Given the description of an element on the screen output the (x, y) to click on. 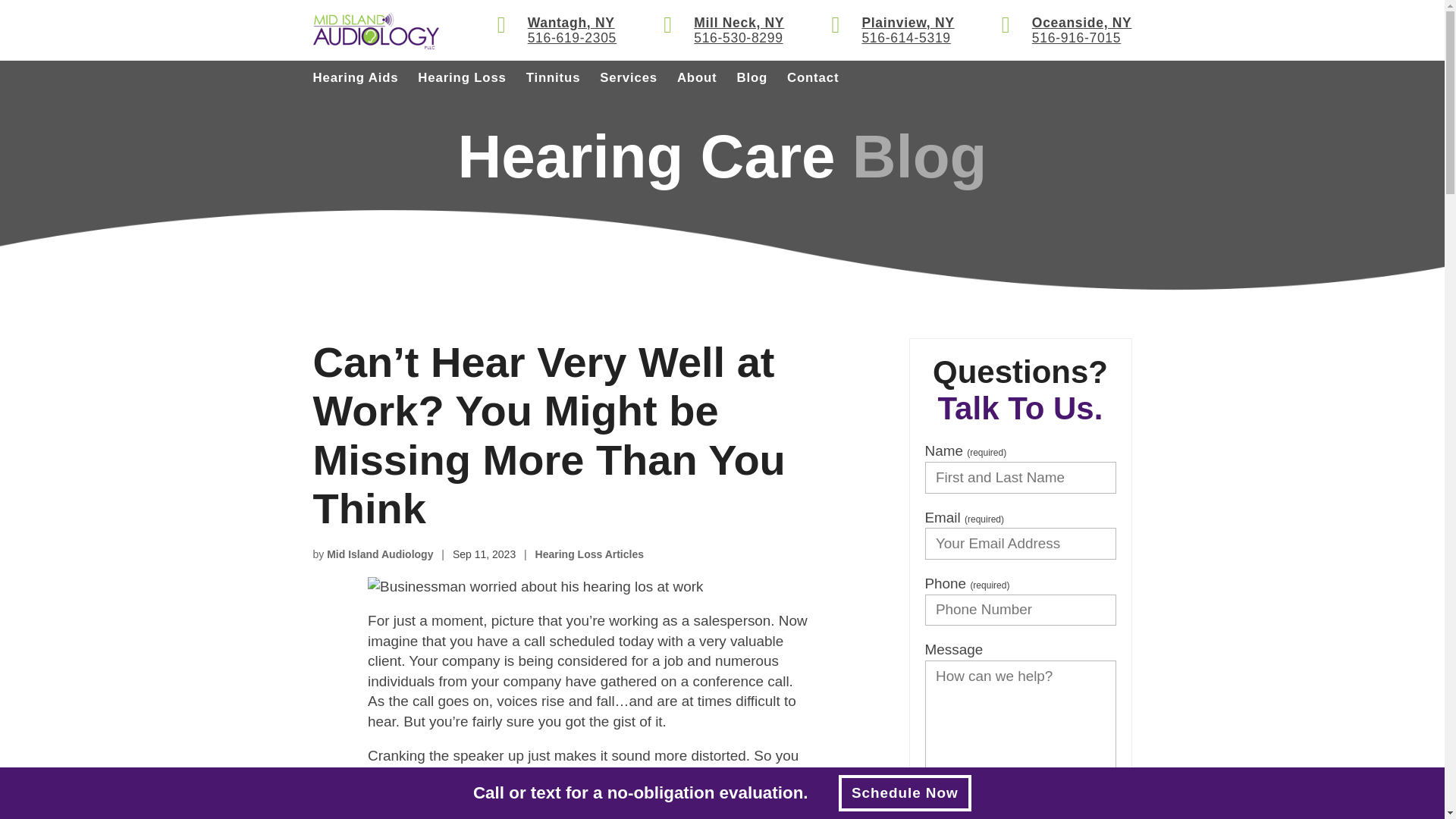
Plainview, NY (907, 22)
Wantagh, NY (571, 22)
516-530-8299 (739, 37)
516-614-5319 (907, 37)
Posts by Mid Island Audiology (379, 553)
Mill Neck, NY (739, 22)
Oceanside, NY (1082, 22)
516-619-2305 (571, 37)
